Given the description of an element on the screen output the (x, y) to click on. 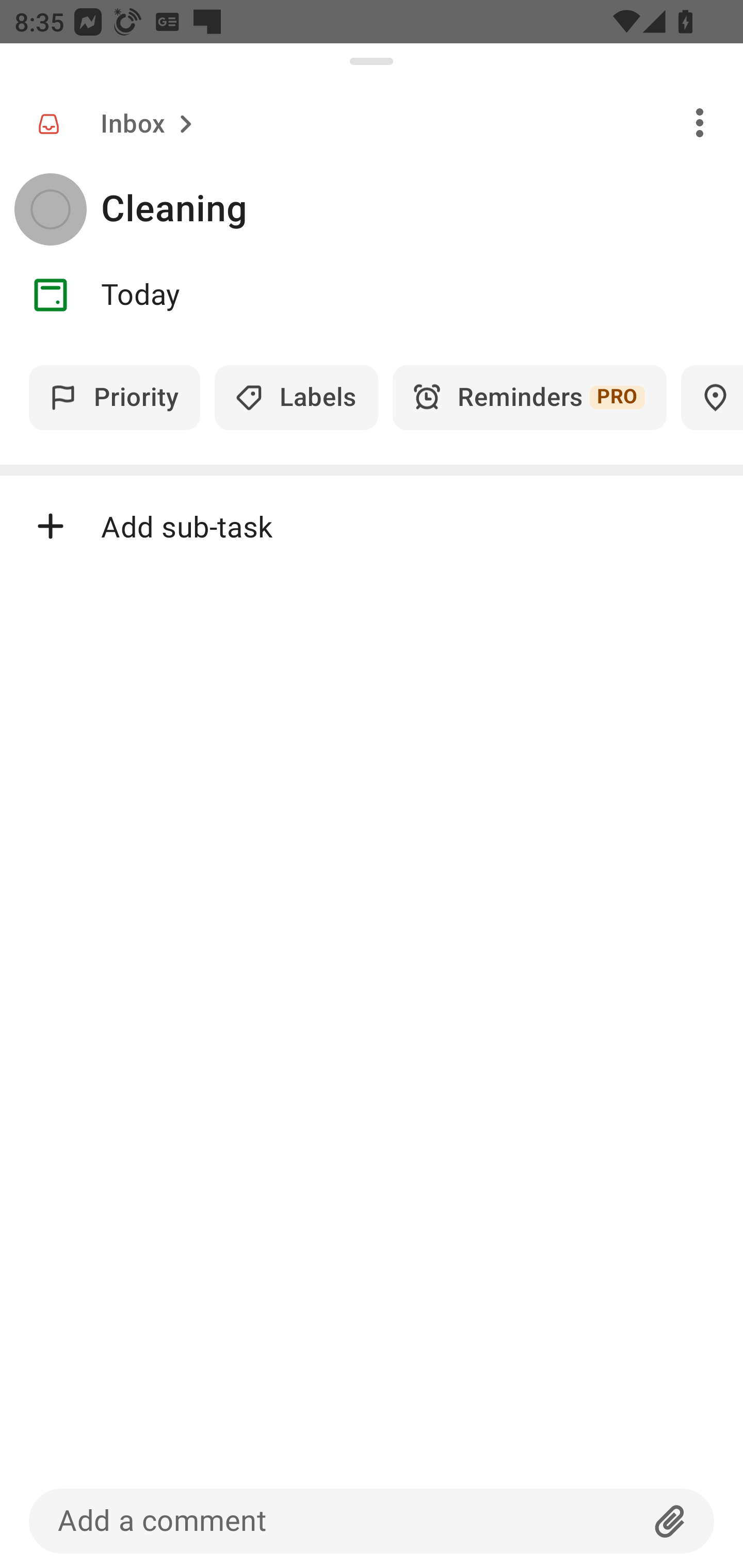
Overflow menu (699, 122)
Complete (50, 209)
Cleaning​ (422, 209)
Date Today (371, 295)
Priority (113, 397)
Labels (296, 397)
Reminders PRO (529, 397)
Locations PRO (712, 397)
Add sub-task (371, 525)
Add a comment Attachment (371, 1520)
Attachment (670, 1520)
